Given the description of an element on the screen output the (x, y) to click on. 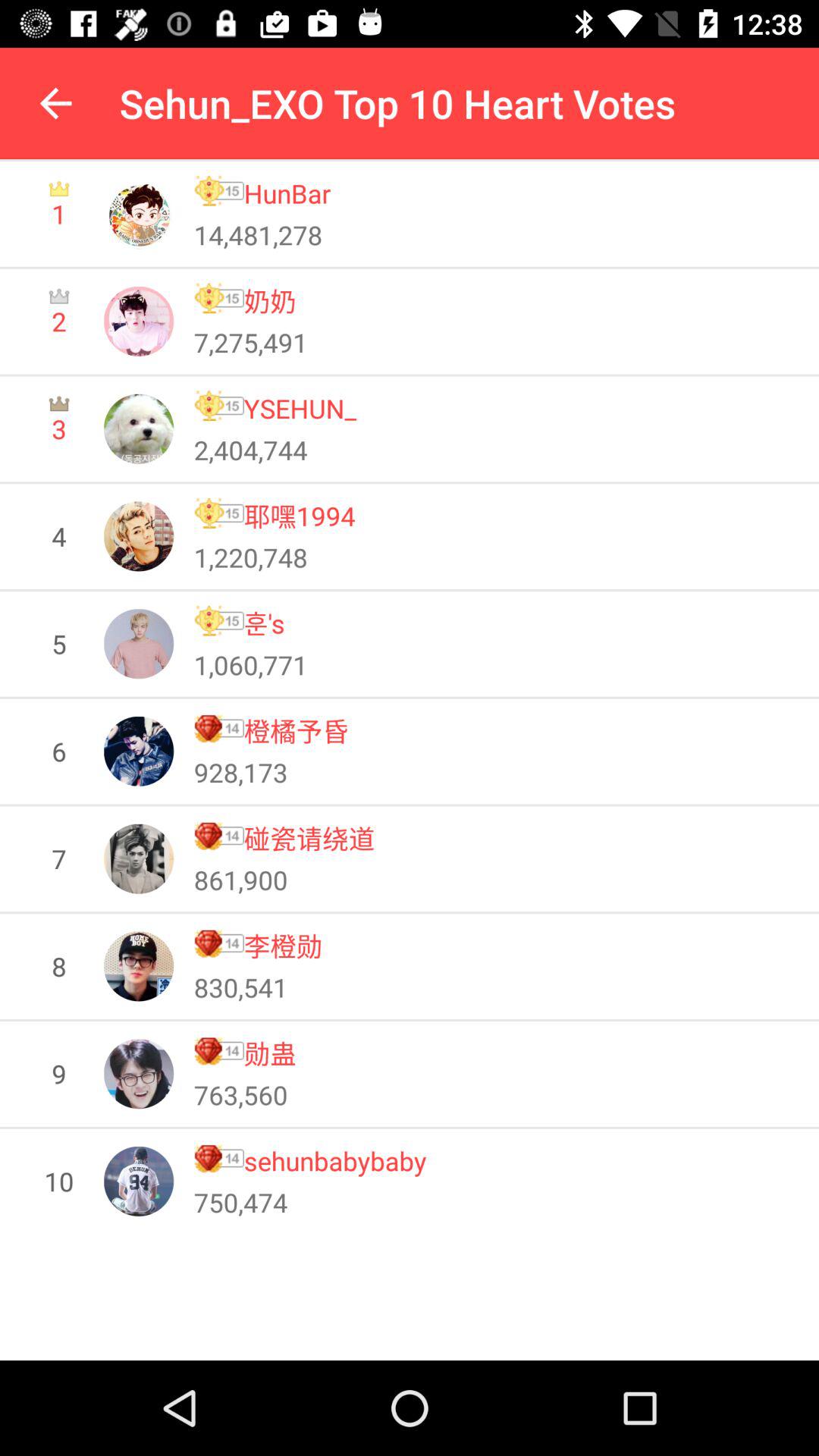
turn on the 2,404,744 icon (250, 449)
